Given the description of an element on the screen output the (x, y) to click on. 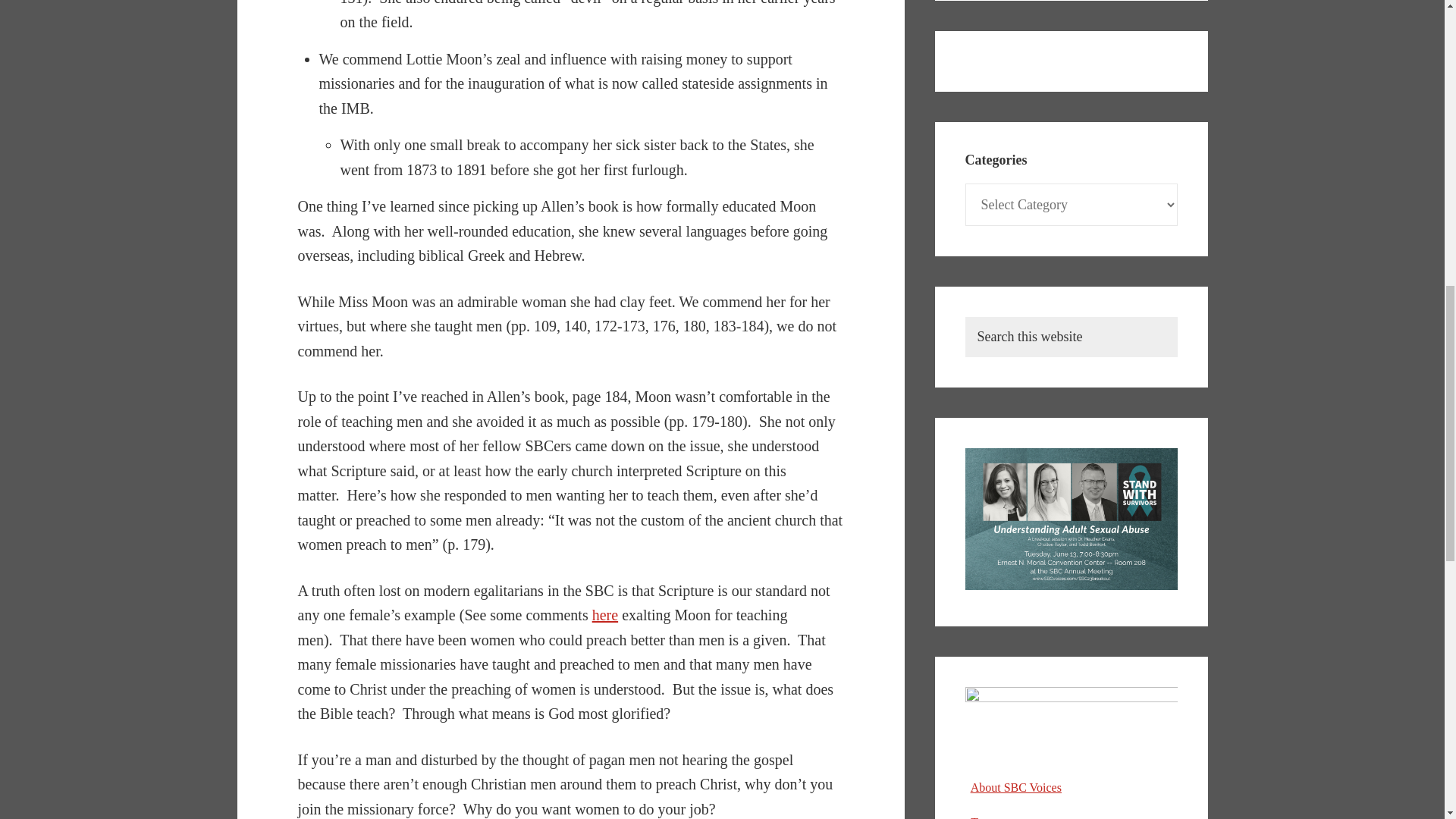
About SBC Voices (1016, 787)
here (604, 614)
Team (984, 817)
